Given the description of an element on the screen output the (x, y) to click on. 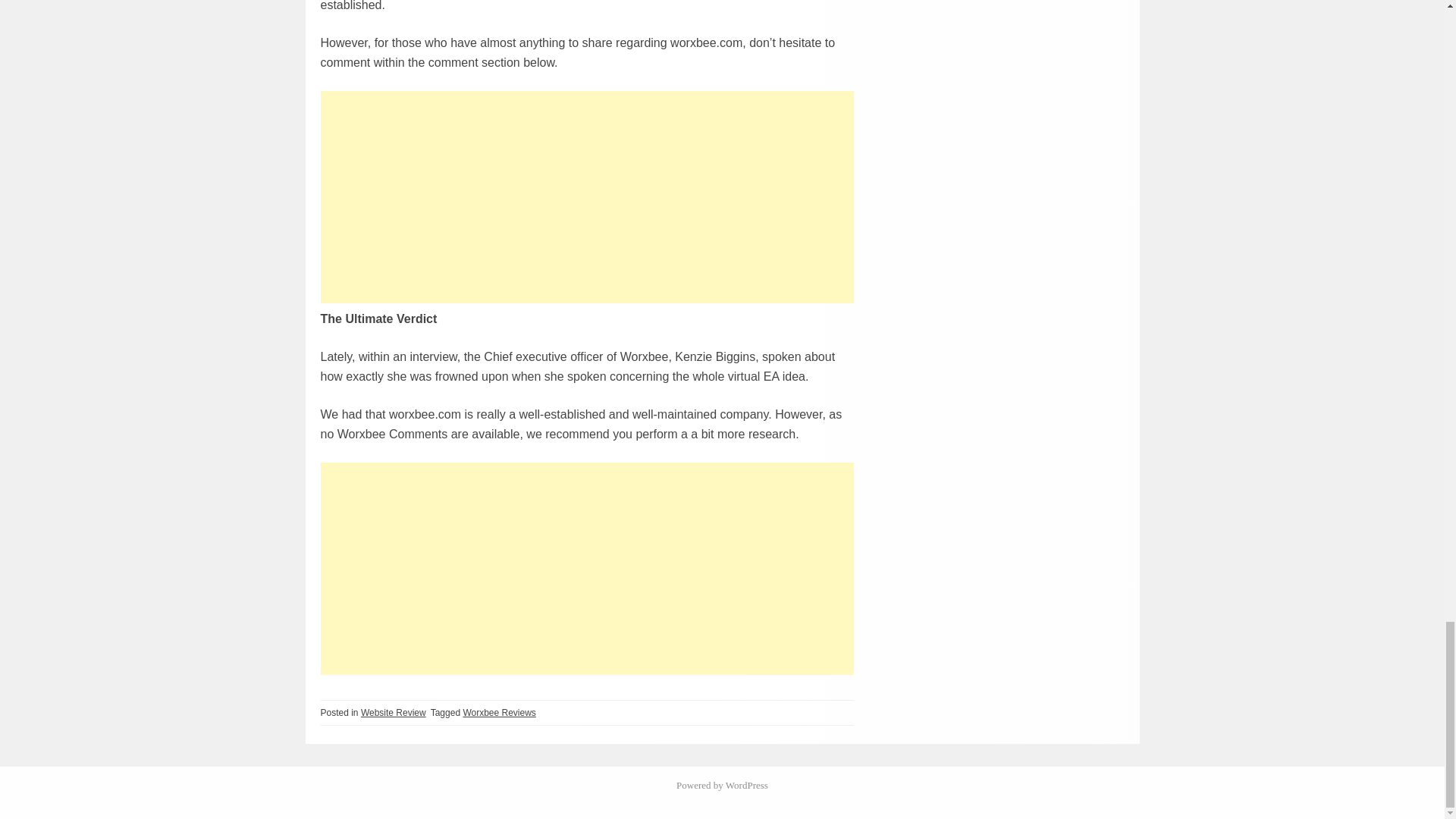
Worxbee Reviews (499, 712)
Advertisement (586, 196)
Website Review (393, 712)
Advertisement (586, 567)
